Given the description of an element on the screen output the (x, y) to click on. 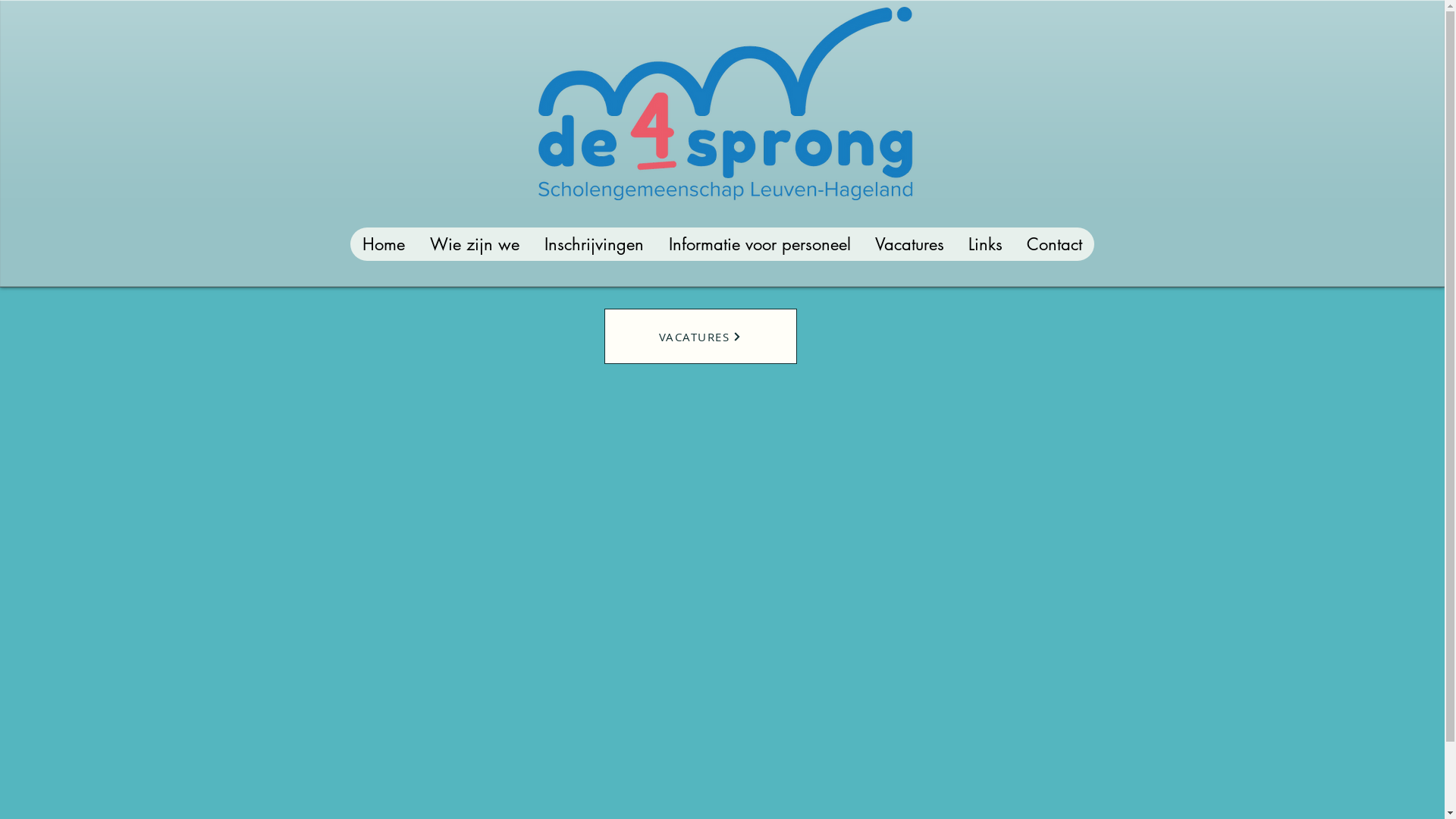
Home Element type: text (383, 243)
Vacatures Element type: text (909, 243)
VACATURES Element type: text (699, 336)
Links Element type: text (984, 243)
Wie zijn we Element type: text (474, 243)
Informatie voor personeel Element type: text (758, 243)
Inschrijvingen Element type: text (592, 243)
Contact Element type: text (1054, 243)
de4sprong Element type: hover (727, 103)
